Given the description of an element on the screen output the (x, y) to click on. 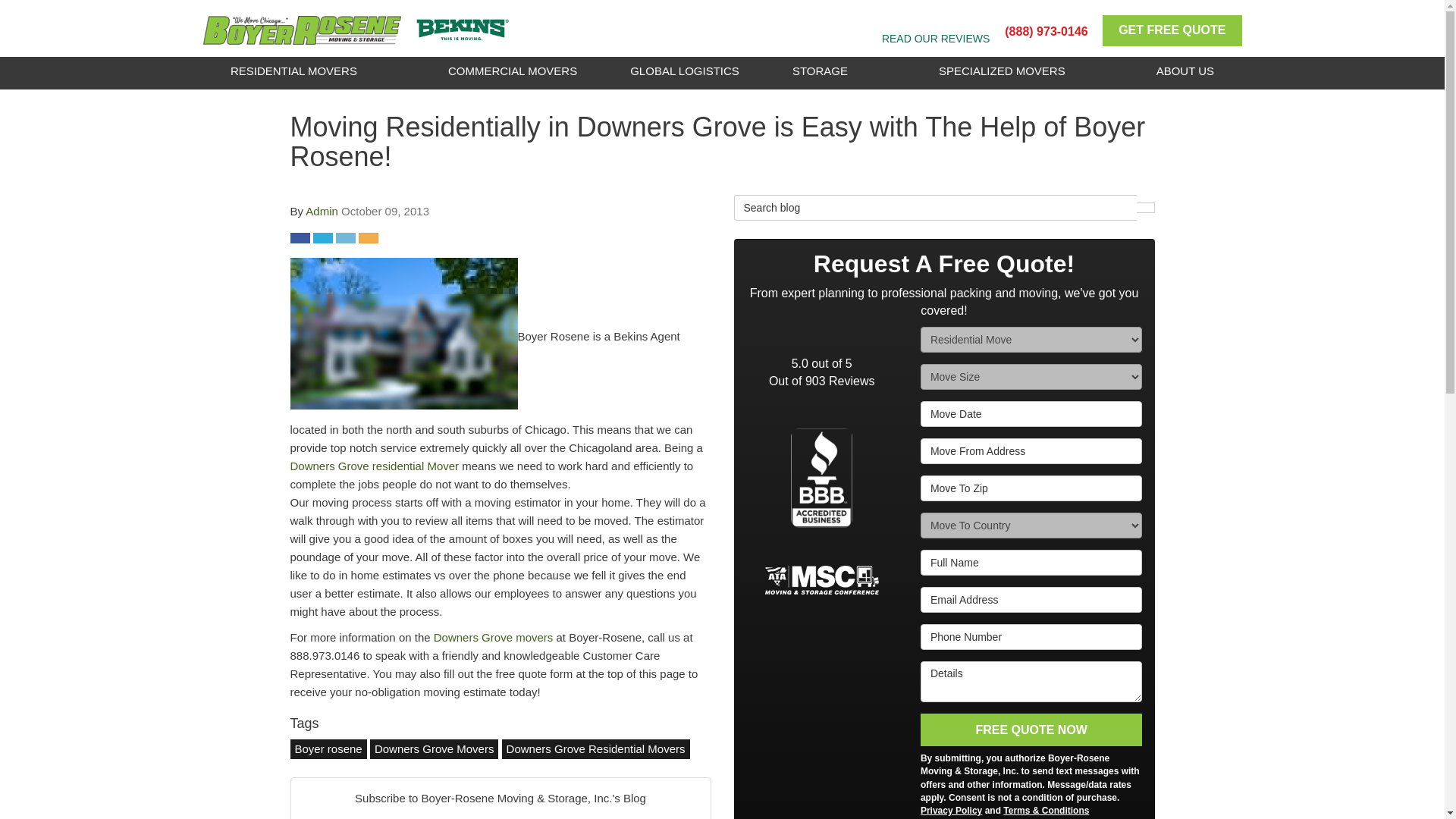
GLOBAL LOGISTICS (684, 70)
downers-grove (402, 333)
COMMERCIAL MOVERS (513, 70)
GET FREE QUOTE (1171, 30)
SPECIALIZED MOVERS (1002, 70)
RESIDENTIAL MOVERS (293, 70)
GET FREE QUOTE (1171, 30)
READ OUR REVIEWS (936, 38)
ABOUT US (1184, 70)
STORAGE (820, 70)
